Given the description of an element on the screen output the (x, y) to click on. 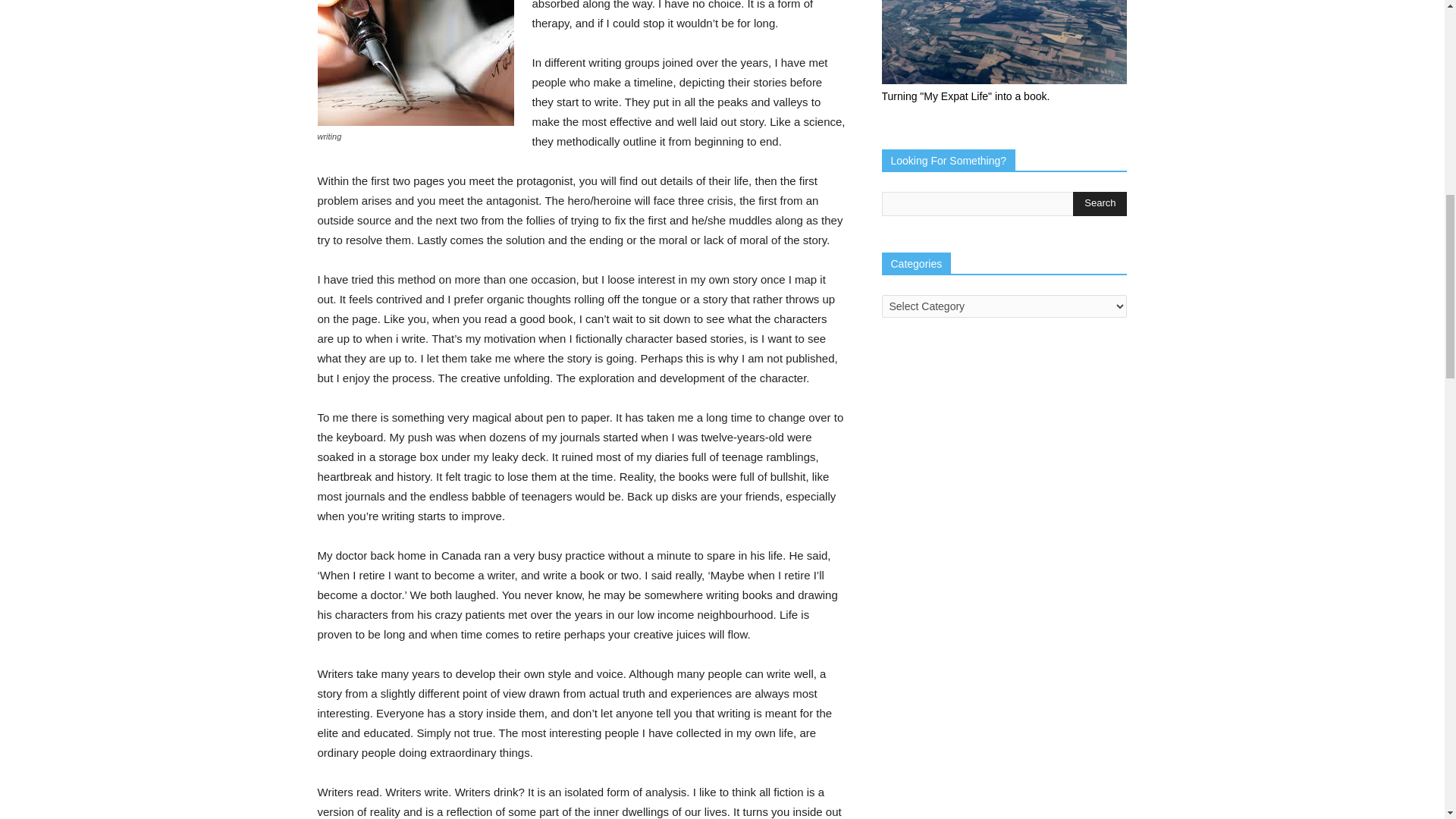
Search (1099, 203)
